Given the description of an element on the screen output the (x, y) to click on. 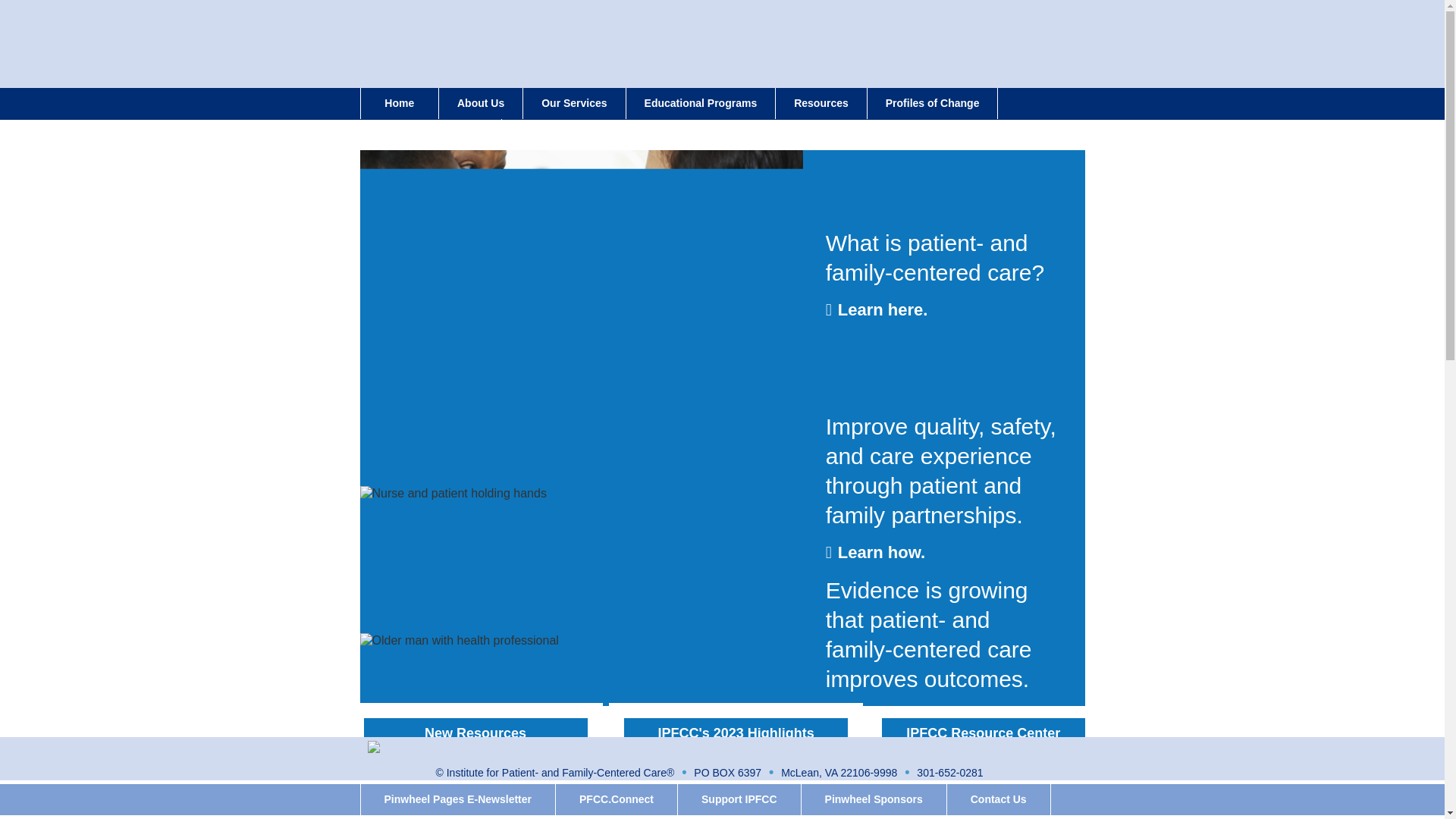
Our Services (573, 102)
Profiles of Change (932, 102)
  Home   (399, 102)
About Us (480, 102)
Educational Programs (701, 102)
PFCC Best Practices (429, 133)
Resources (821, 102)
